Given the description of an element on the screen output the (x, y) to click on. 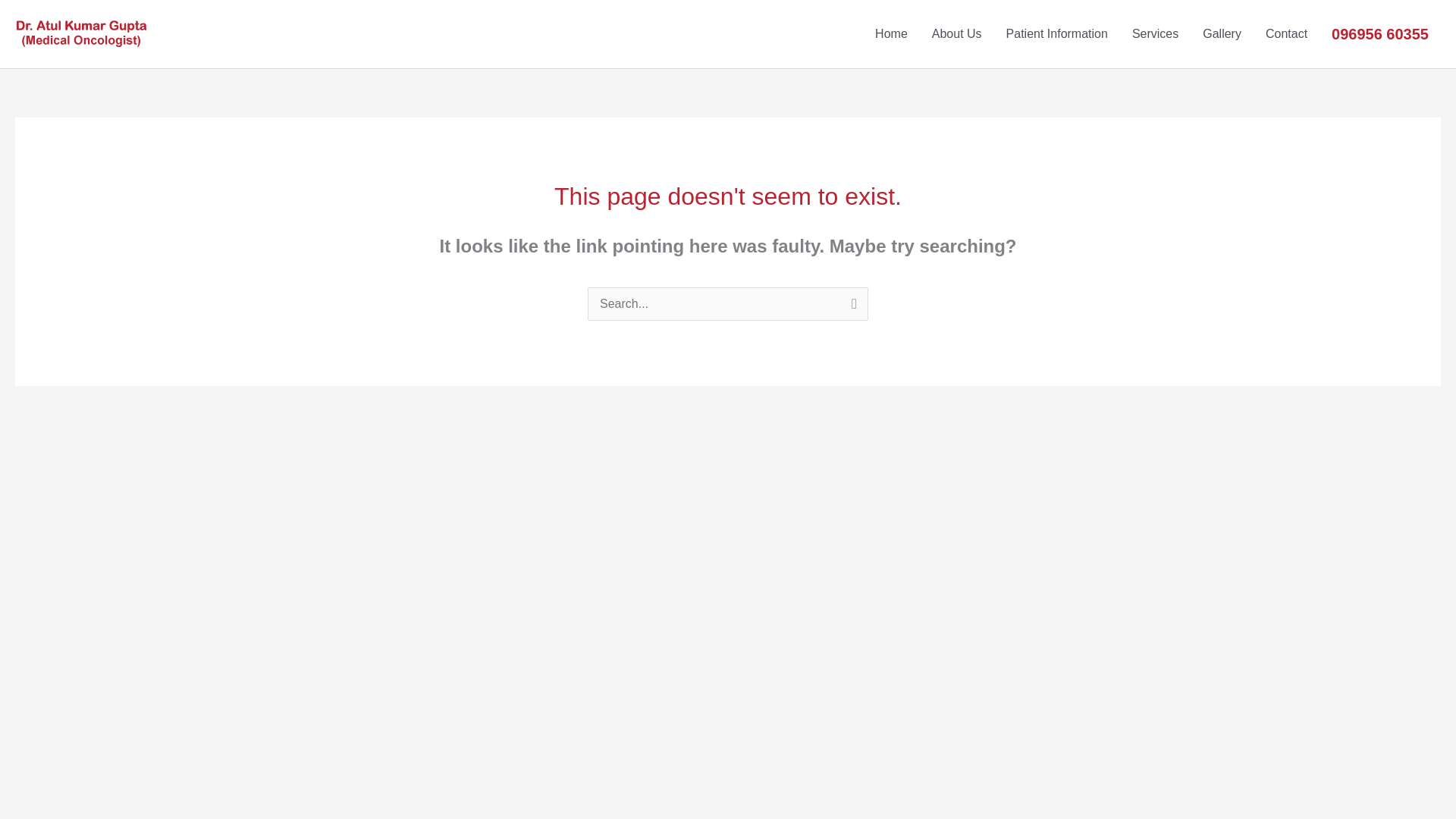
Patient Information (1056, 33)
Contact (1286, 33)
Gallery (1222, 33)
096956 60355 (1380, 33)
Services (1155, 33)
About Us (957, 33)
